Given the description of an element on the screen output the (x, y) to click on. 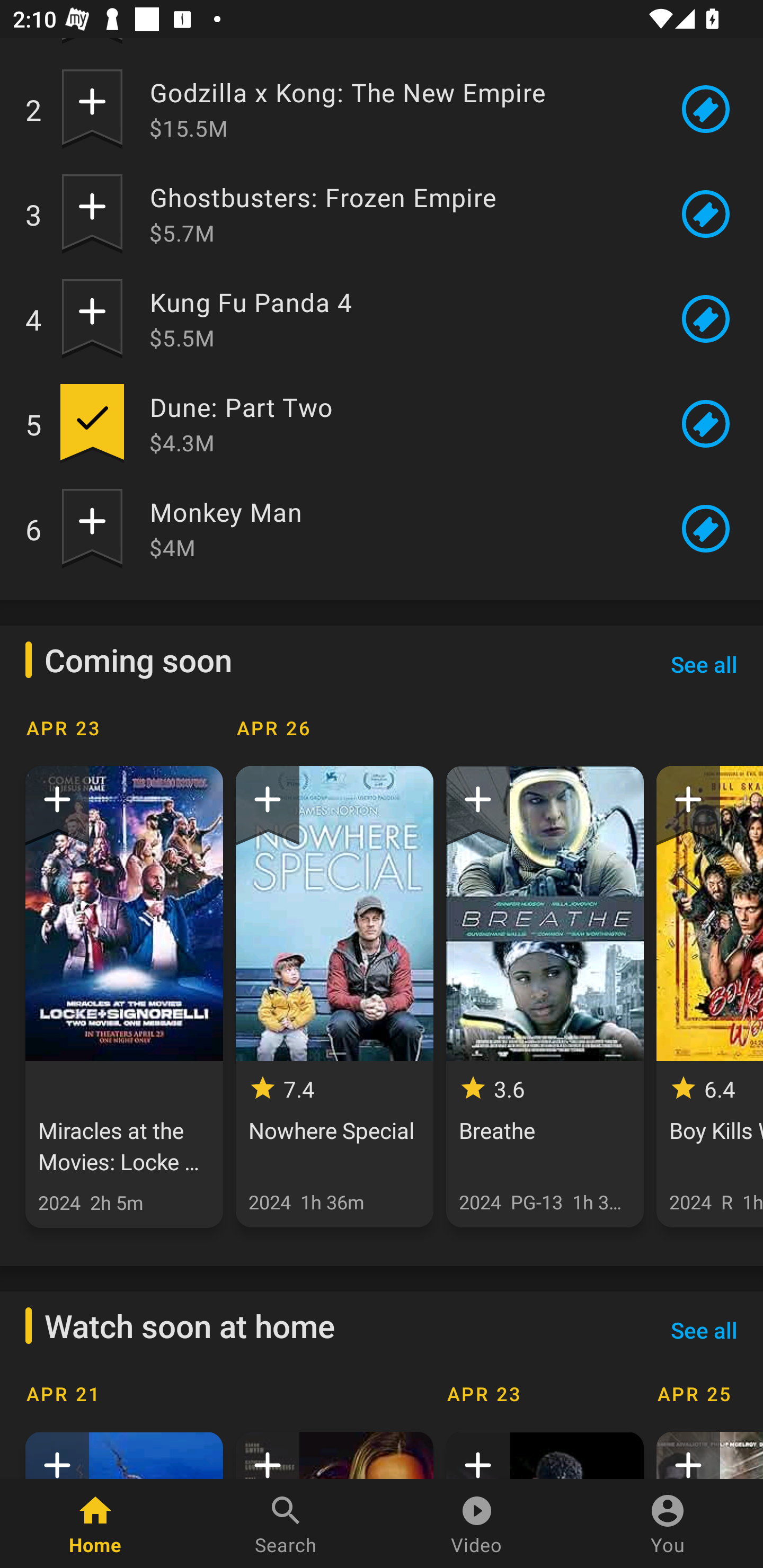
Godzilla x Kong: The New Empire $15.5M (398, 108)
Ghostbusters: Frozen Empire $5.7M (398, 213)
Kung Fu Panda 4 $5.5M (398, 318)
Dune: Part Two $4.3M (398, 423)
Monkey Man $4M (398, 528)
See all See all Coming soon (703, 663)
7.4 Nowhere Special 2024  1h 36m (334, 996)
3.6 Breathe 2024  PG-13  1h 33m (544, 996)
See all See all Watch soon at home (703, 1330)
Search (285, 1523)
Video (476, 1523)
You (667, 1523)
